Given the description of an element on the screen output the (x, y) to click on. 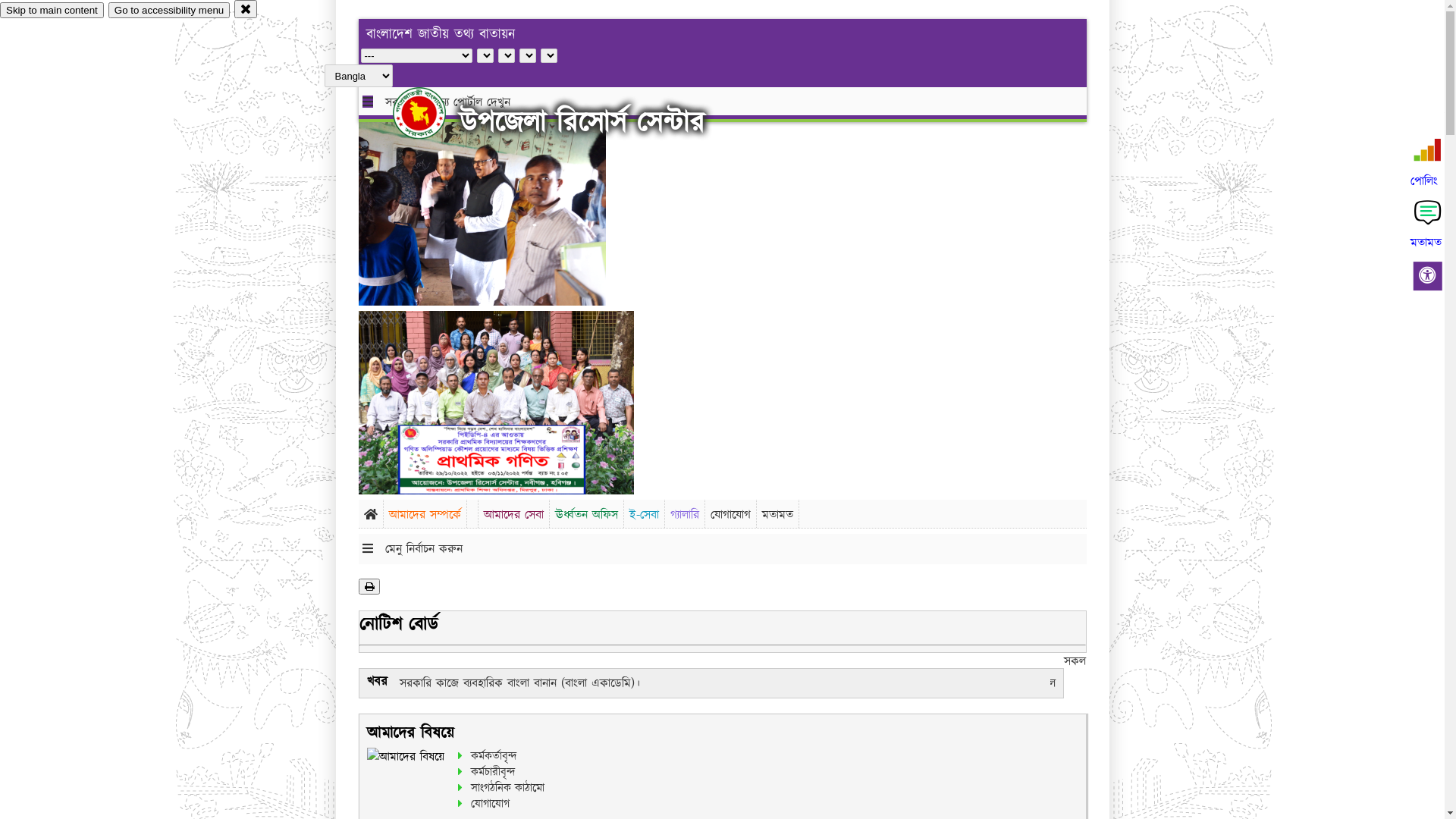
close Element type: hover (245, 9)
Skip to main content Element type: text (51, 10)
Go to accessibility menu Element type: text (168, 10)

                
             Element type: hover (431, 112)
